Given the description of an element on the screen output the (x, y) to click on. 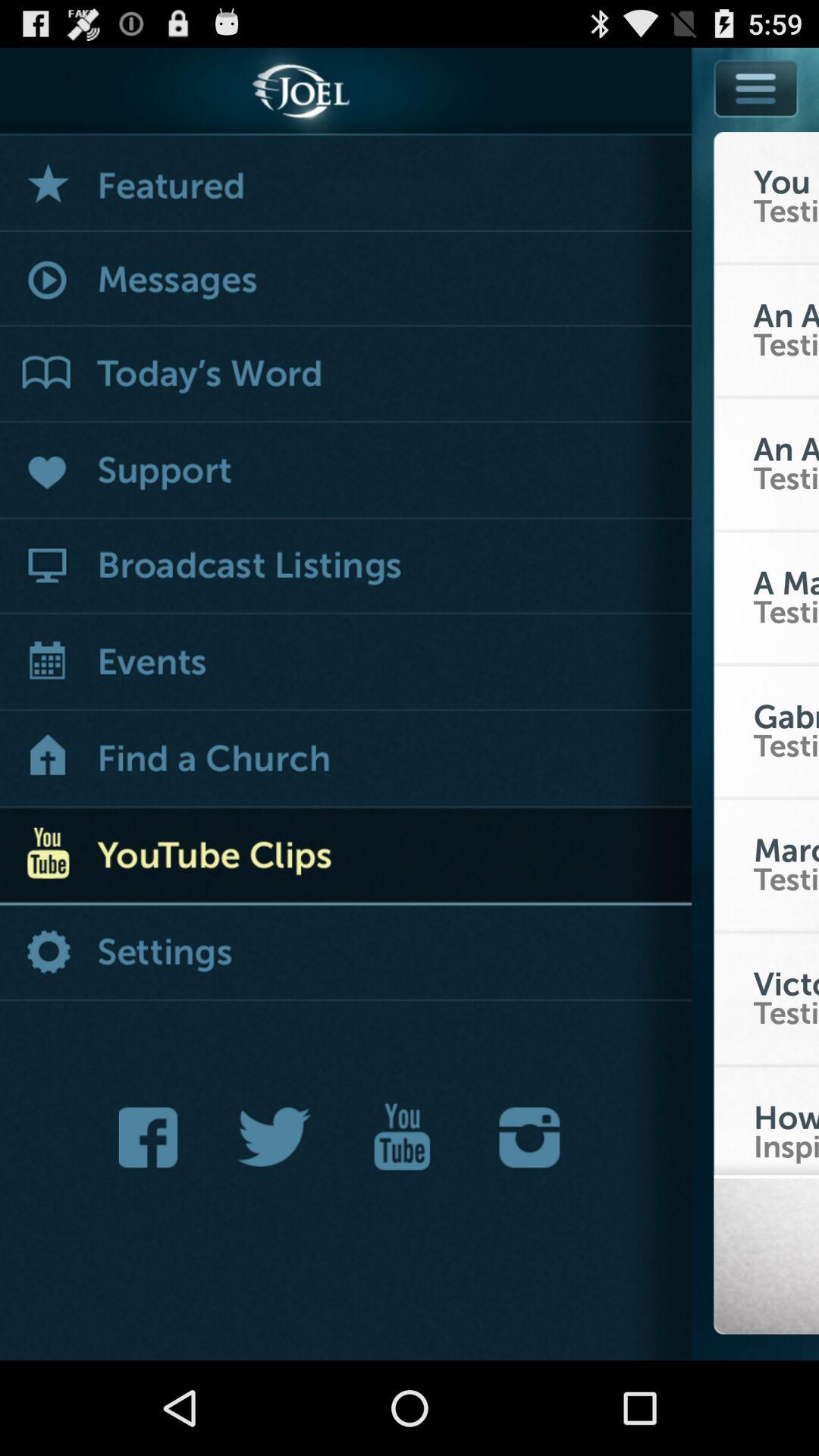
show featured items (345, 183)
